Given the description of an element on the screen output the (x, y) to click on. 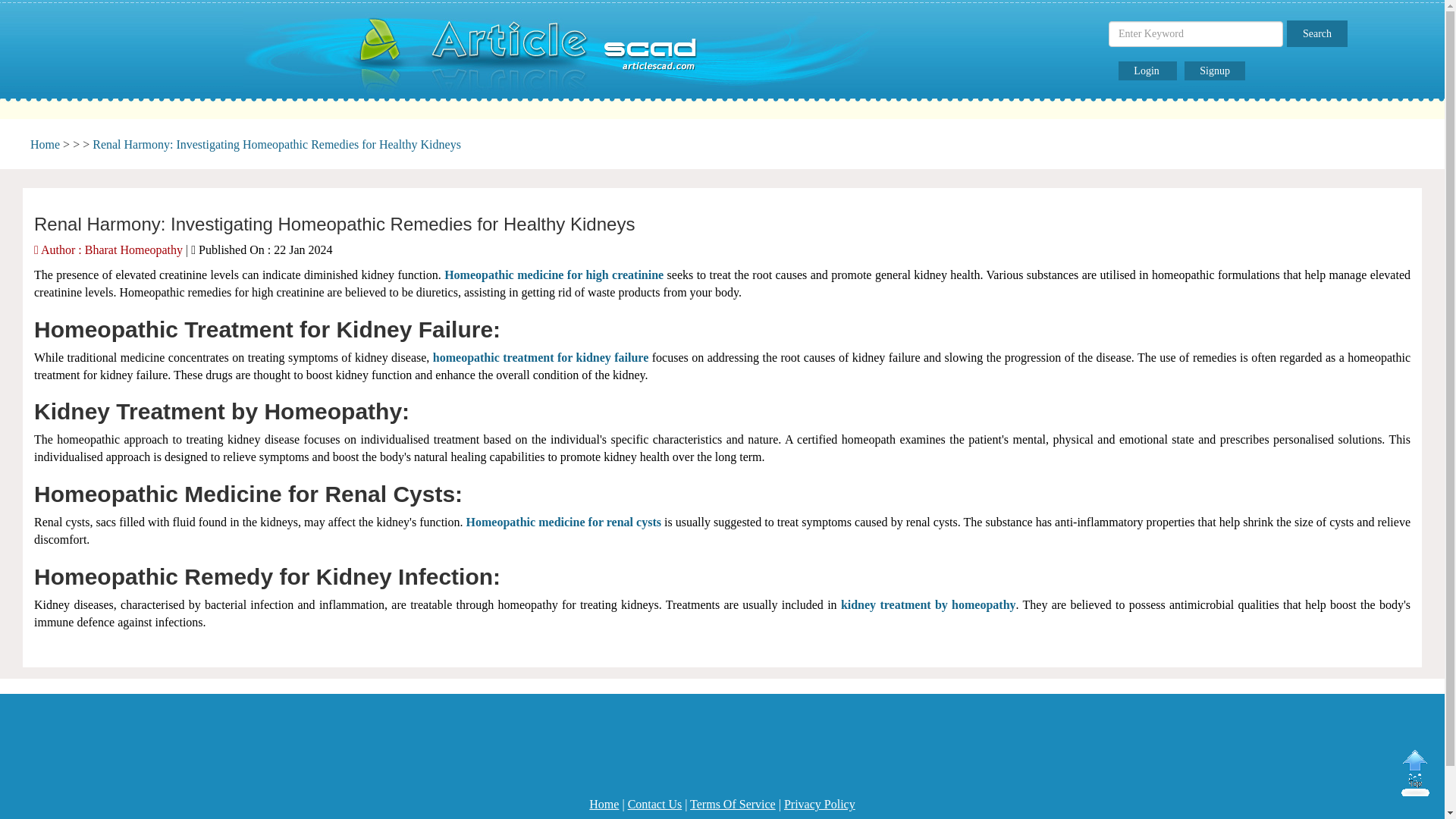
Signup (1214, 70)
Homeopathic medicine for high creatinine (553, 274)
Search (1317, 33)
Home (603, 803)
Contact Us (654, 803)
homeopathic treatment for kidney failure (539, 357)
Terms Of Service (733, 803)
Home (44, 144)
kidney treatment by homeopathy (928, 604)
Homeopathic medicine for renal cysts (563, 521)
